Given the description of an element on the screen output the (x, y) to click on. 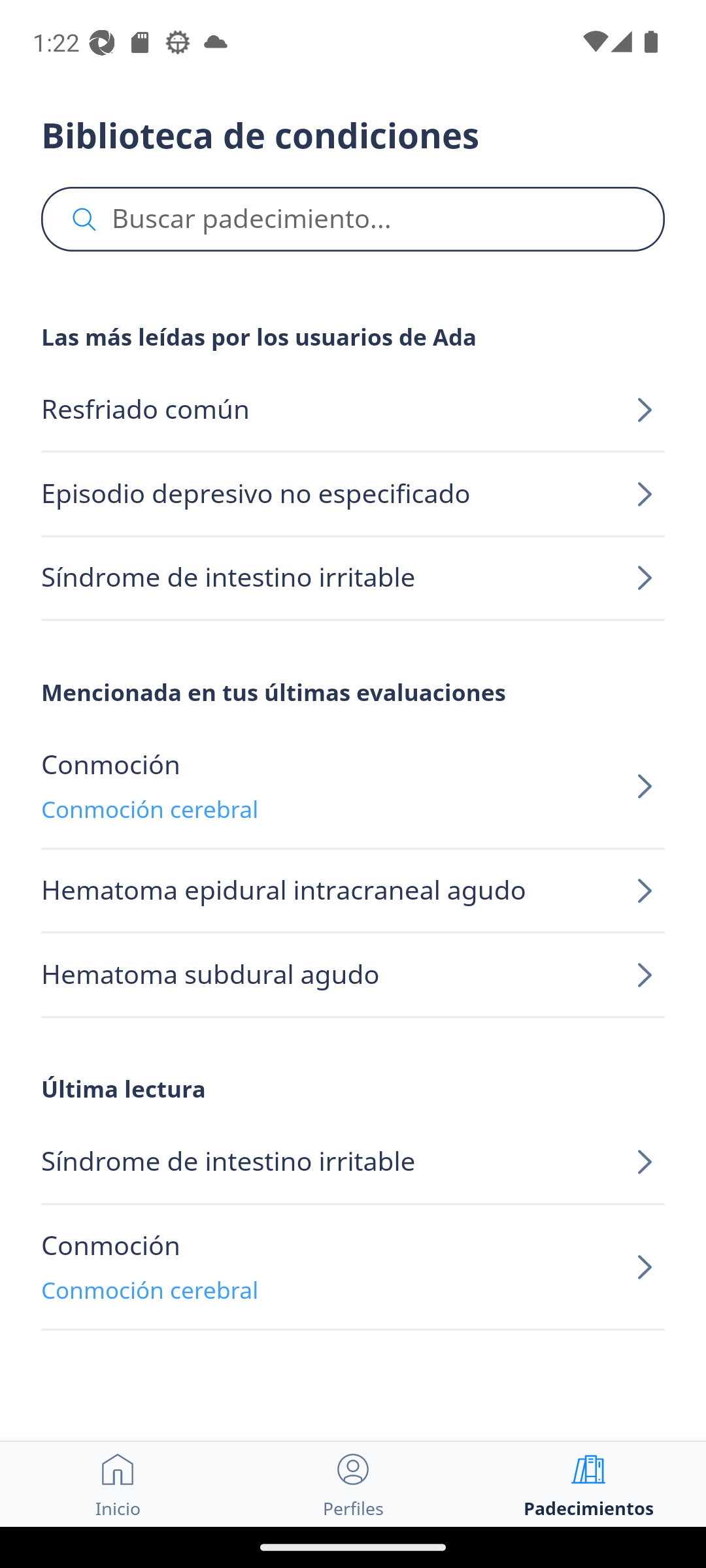
Buscar padecimiento... (352, 219)
Resfriado común (352, 409)
Episodio depresivo no especificado (352, 494)
Síndrome de intestino irritable (352, 578)
Conmoción Conmoción cerebral (352, 786)
Hematoma epidural intracraneal agudo (352, 890)
Hematoma subdural agudo (352, 974)
Síndrome de intestino irritable (352, 1162)
Conmoción Conmoción cerebral (352, 1266)
Inicio (117, 1484)
Perfiles (352, 1484)
Padecimientos (588, 1484)
